Given the description of an element on the screen output the (x, y) to click on. 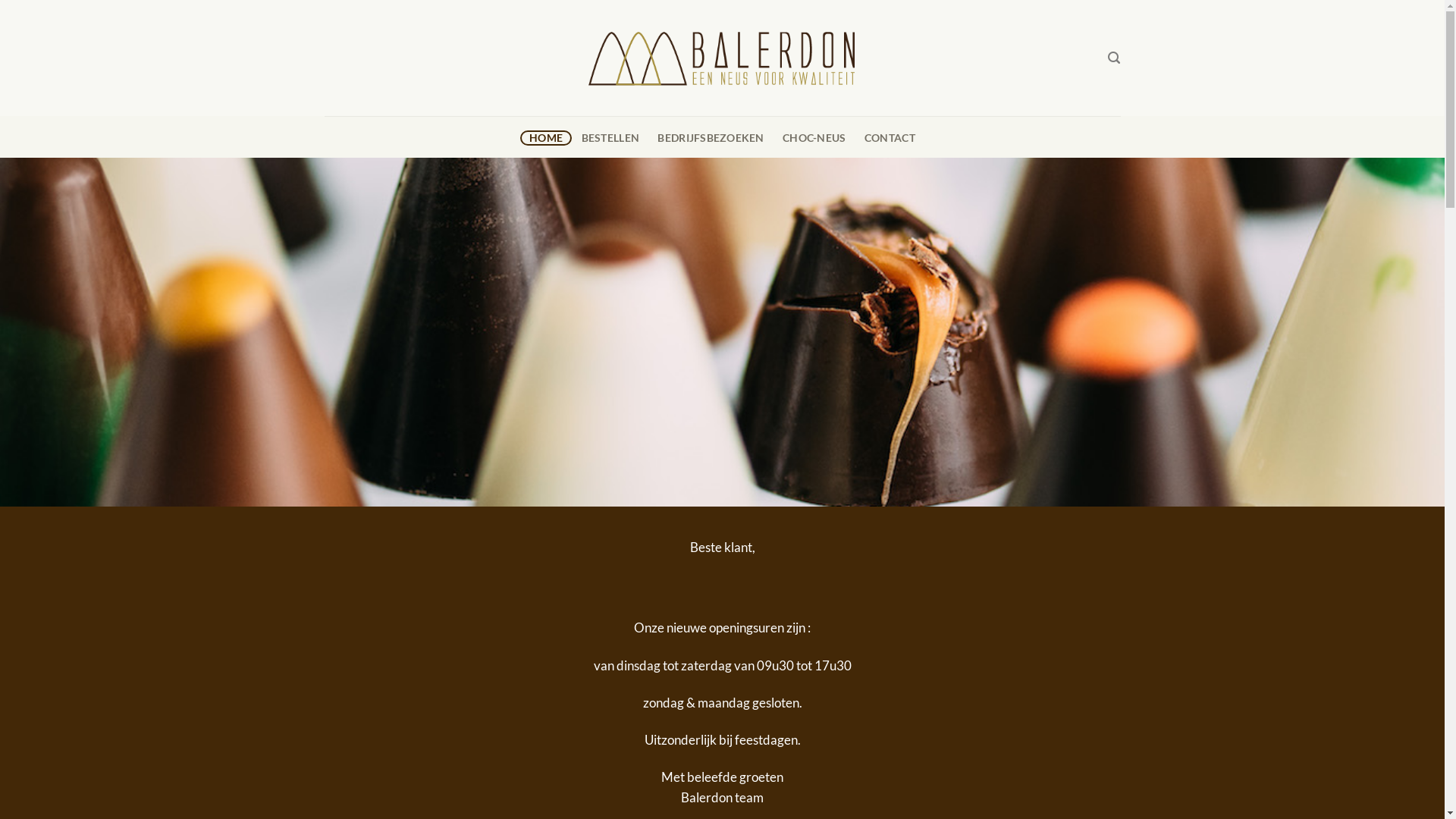
BESTELLEN Element type: text (609, 137)
HOME Element type: text (545, 137)
BEDRIJFSBEZOEKEN Element type: text (710, 137)
CHOC-NEUS Element type: text (814, 137)
CONTACT Element type: text (889, 137)
Balerdon - Balerdon Element type: hover (722, 57)
